Given the description of an element on the screen output the (x, y) to click on. 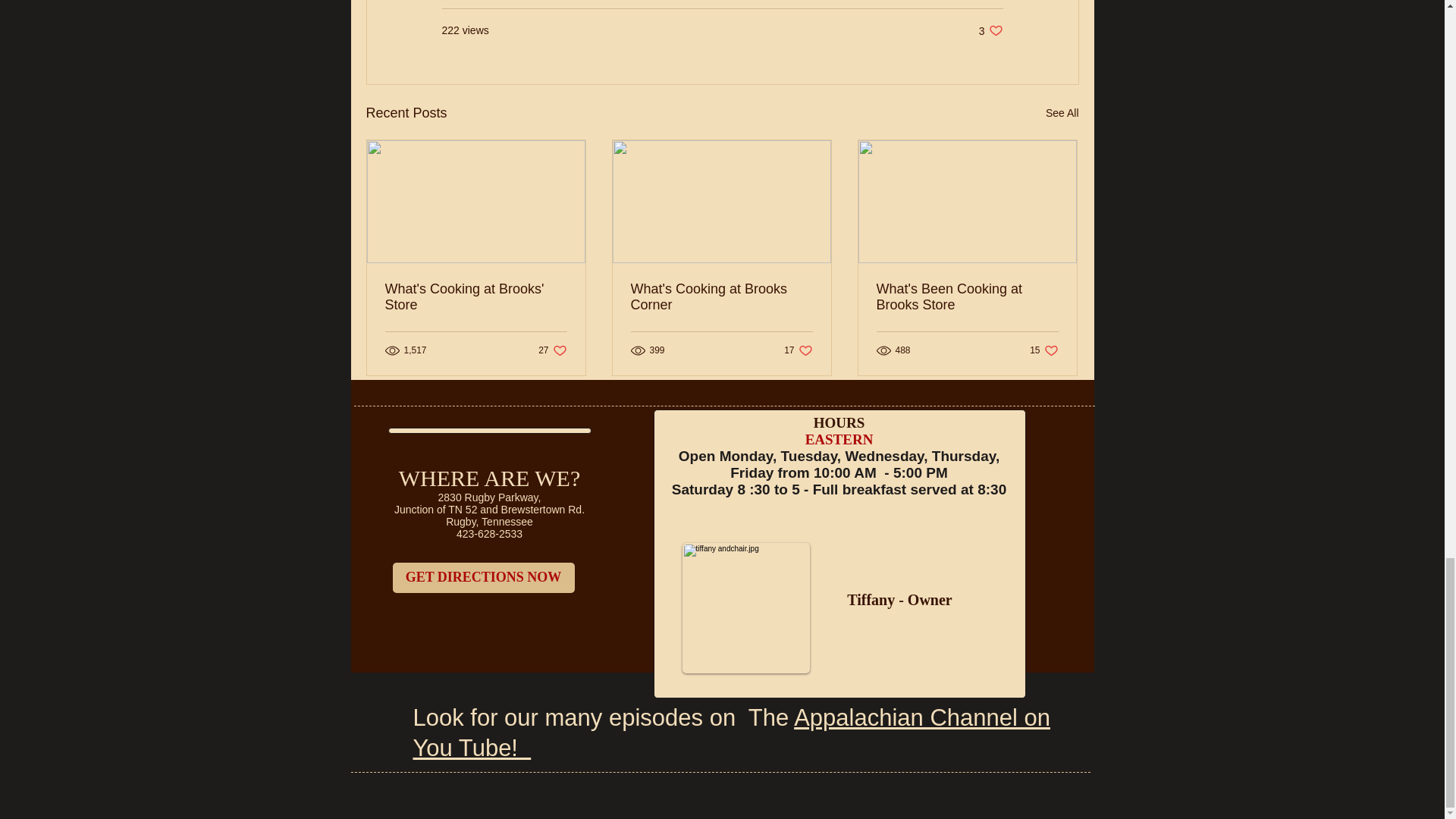
See All (1043, 350)
Appalachian Channel on You Tube!   (1061, 113)
What's Cooking at Brooks' Store (730, 732)
What's Been Cooking at Brooks Store (476, 296)
GET DIRECTIONS NOW (552, 350)
What's Cooking at Brooks Corner (798, 350)
